Given the description of an element on the screen output the (x, y) to click on. 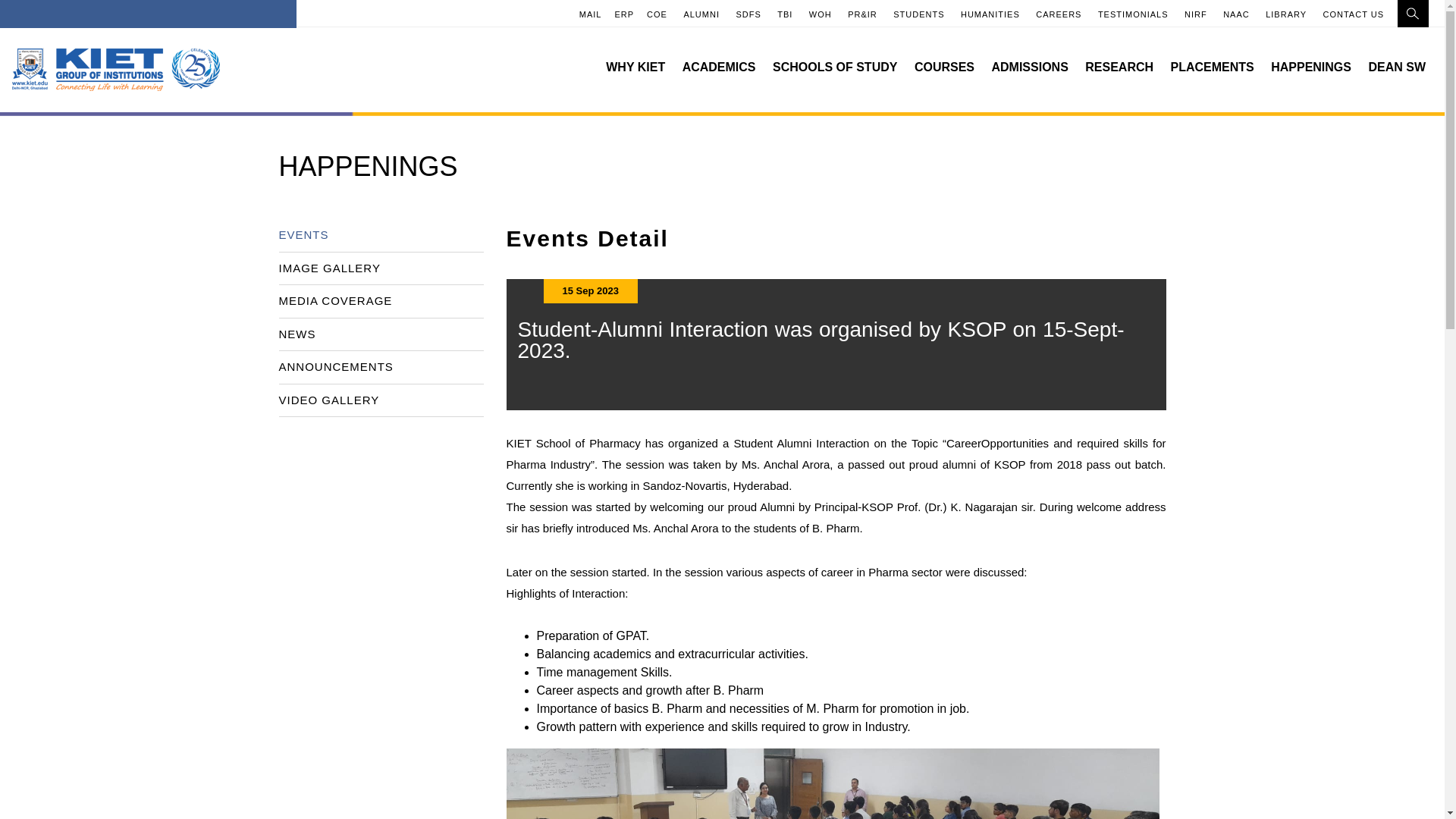
NIRF (1196, 13)
COE (656, 13)
CAREERS (1058, 13)
TBI (784, 13)
TESTIMONIALS (1133, 13)
WOH (820, 13)
LIBRARY (1285, 13)
SDFS (747, 13)
ALUMNI (700, 13)
NAAC (1236, 13)
